Given the description of an element on the screen output the (x, y) to click on. 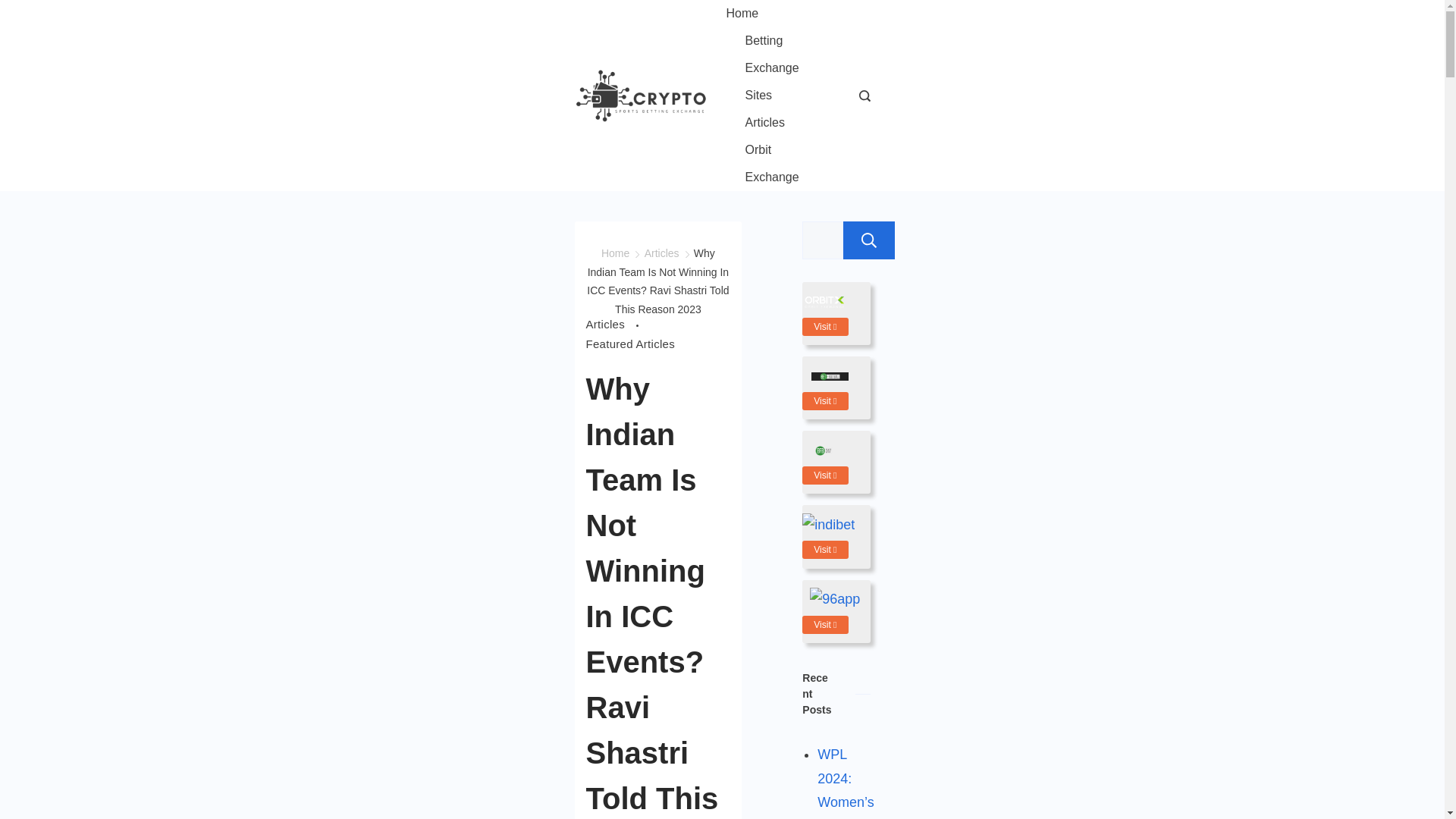
Articles (662, 253)
Betting Exchange Sites (777, 67)
Featured Articles (630, 343)
Articles (615, 324)
Home (614, 253)
Orbit Exchange (777, 163)
Articles (764, 122)
Home (751, 13)
